Given the description of an element on the screen output the (x, y) to click on. 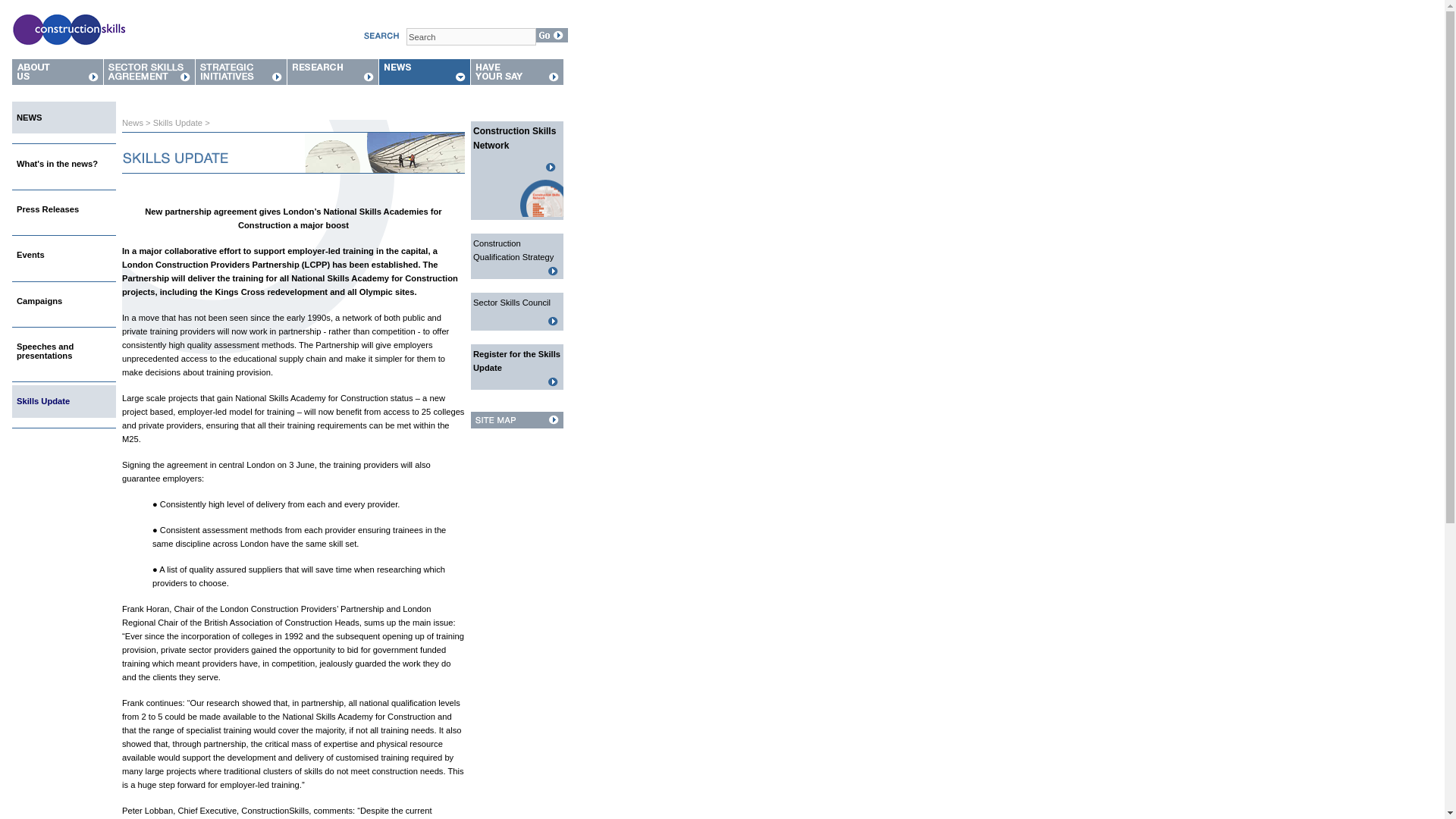
Press Releases (47, 208)
This takes you to Skills Update (180, 122)
This takes you to Strategic Initiatives (240, 80)
Skills Update (42, 400)
Register for the Skills Update (516, 360)
This takes you to the Skills Update (42, 400)
Construction Skills Network (514, 138)
This takes you to Have Your Say (516, 80)
This takes you to News (424, 80)
What's in the news? (56, 163)
This takes you to Sector Skills Agreement (149, 80)
Speeches and presentations (45, 351)
this will take you to the Home page (68, 47)
This takes you to the What's in the news? (56, 163)
This takes you to the Campaigns (39, 300)
